Given the description of an element on the screen output the (x, y) to click on. 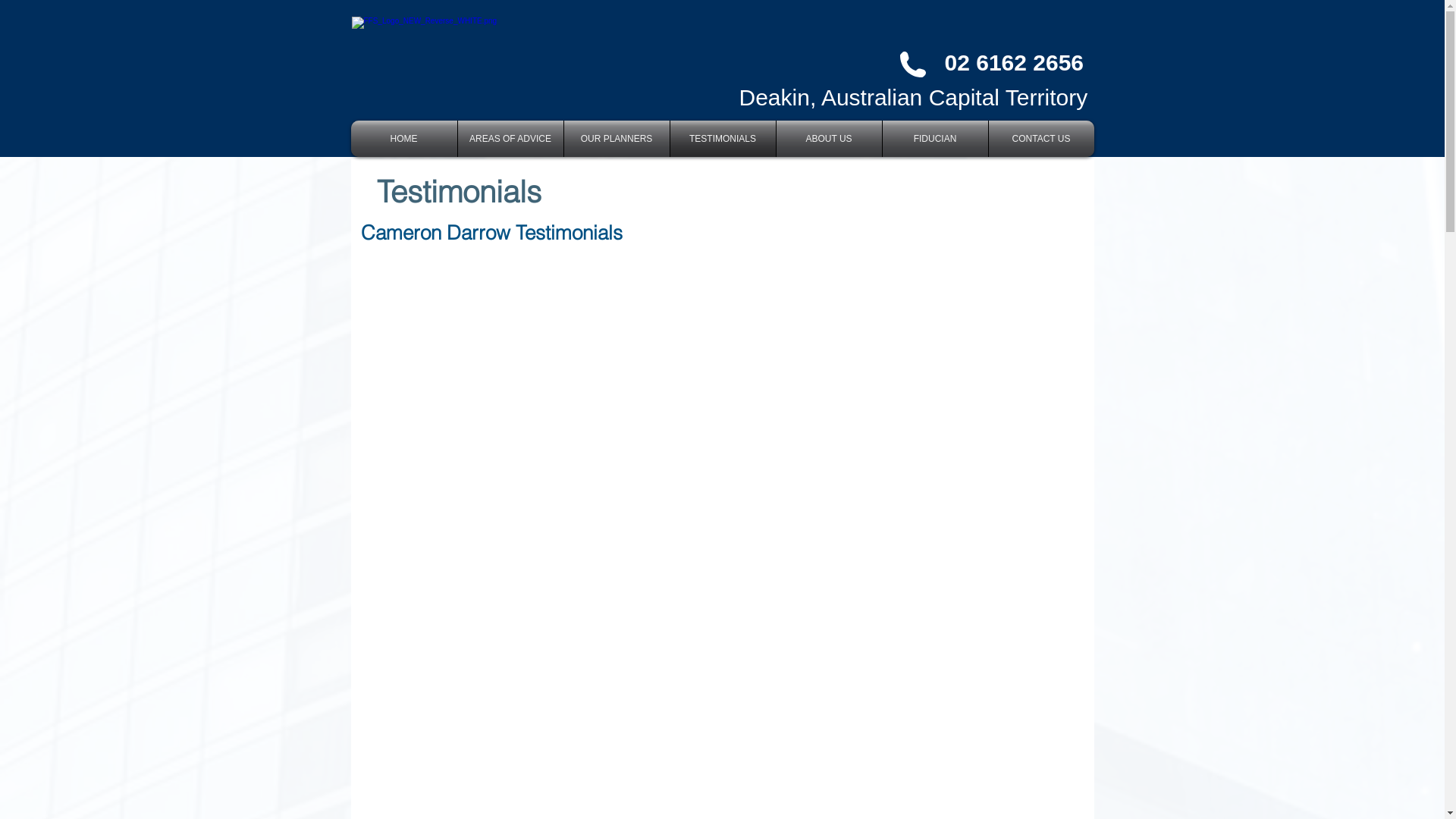
ABOUT US Element type: text (828, 138)
02 6162 2656 Element type: text (1014, 62)
TESTIMONIALS Element type: text (722, 138)
CONTACT US Element type: text (1041, 138)
AREAS OF ADVICE Element type: text (510, 138)
OUR PLANNERS Element type: text (616, 138)
FIDUCIAN Element type: text (935, 138)
FFS canberra.png Element type: hover (533, 59)
HOME Element type: text (403, 138)
